Given the description of an element on the screen output the (x, y) to click on. 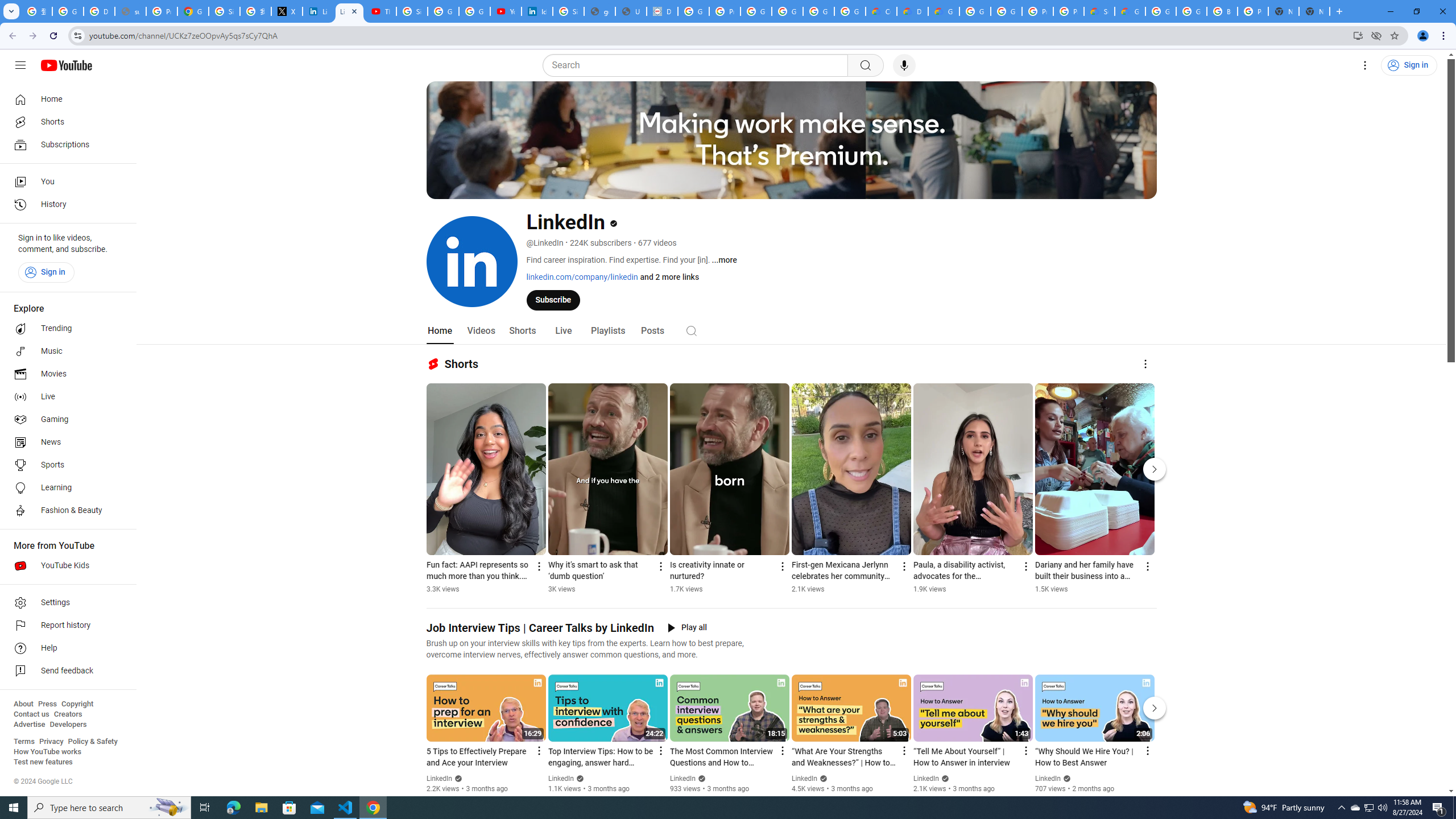
Fashion & Beauty (64, 510)
History (64, 204)
Subscriptions (64, 144)
